Given the description of an element on the screen output the (x, y) to click on. 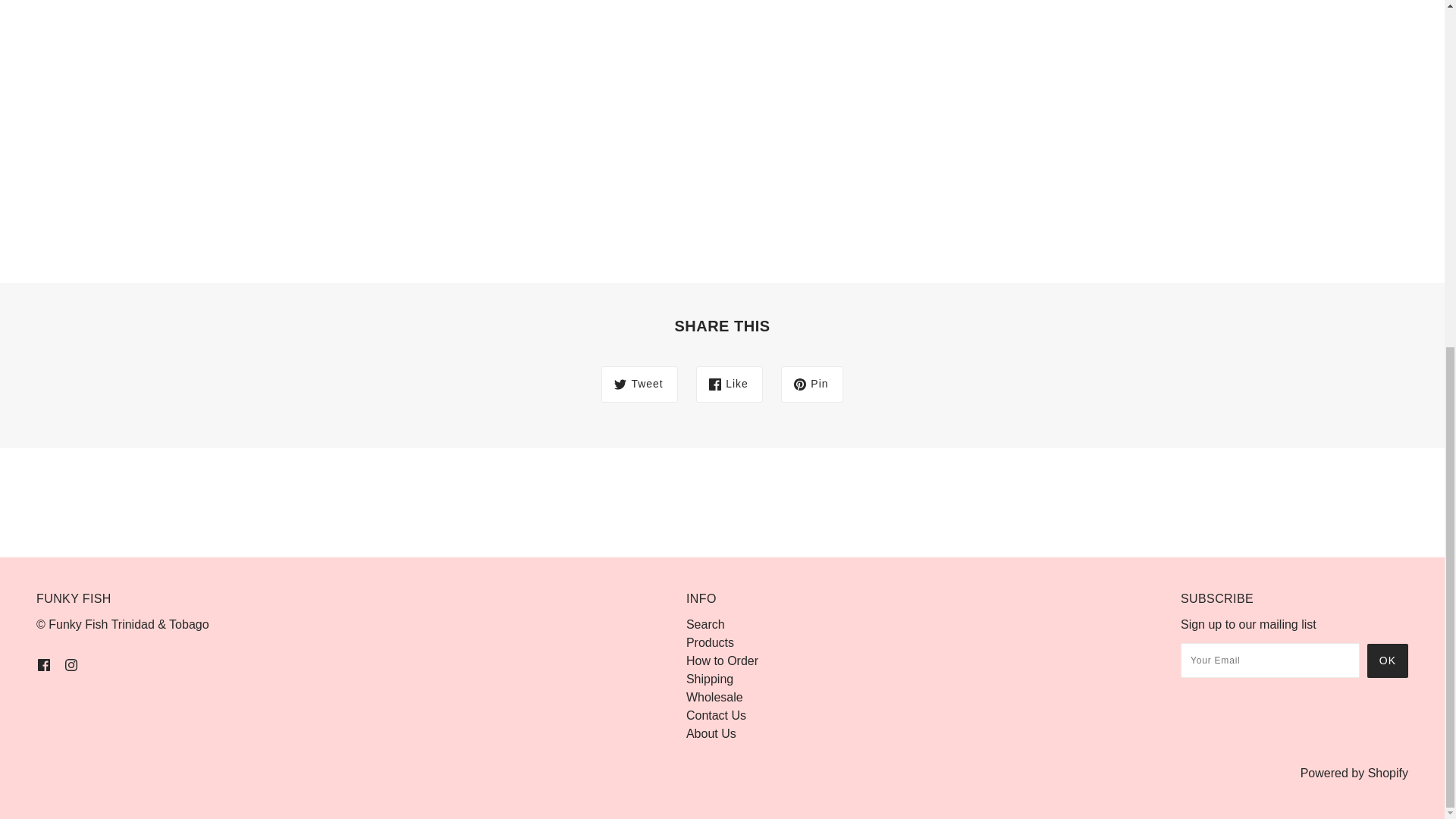
About Us (710, 733)
Ok (1387, 660)
Contact Us (715, 715)
How to Order (721, 660)
Products (709, 642)
Search (705, 624)
Wholesale (713, 697)
Shipping (709, 678)
